Given the description of an element on the screen output the (x, y) to click on. 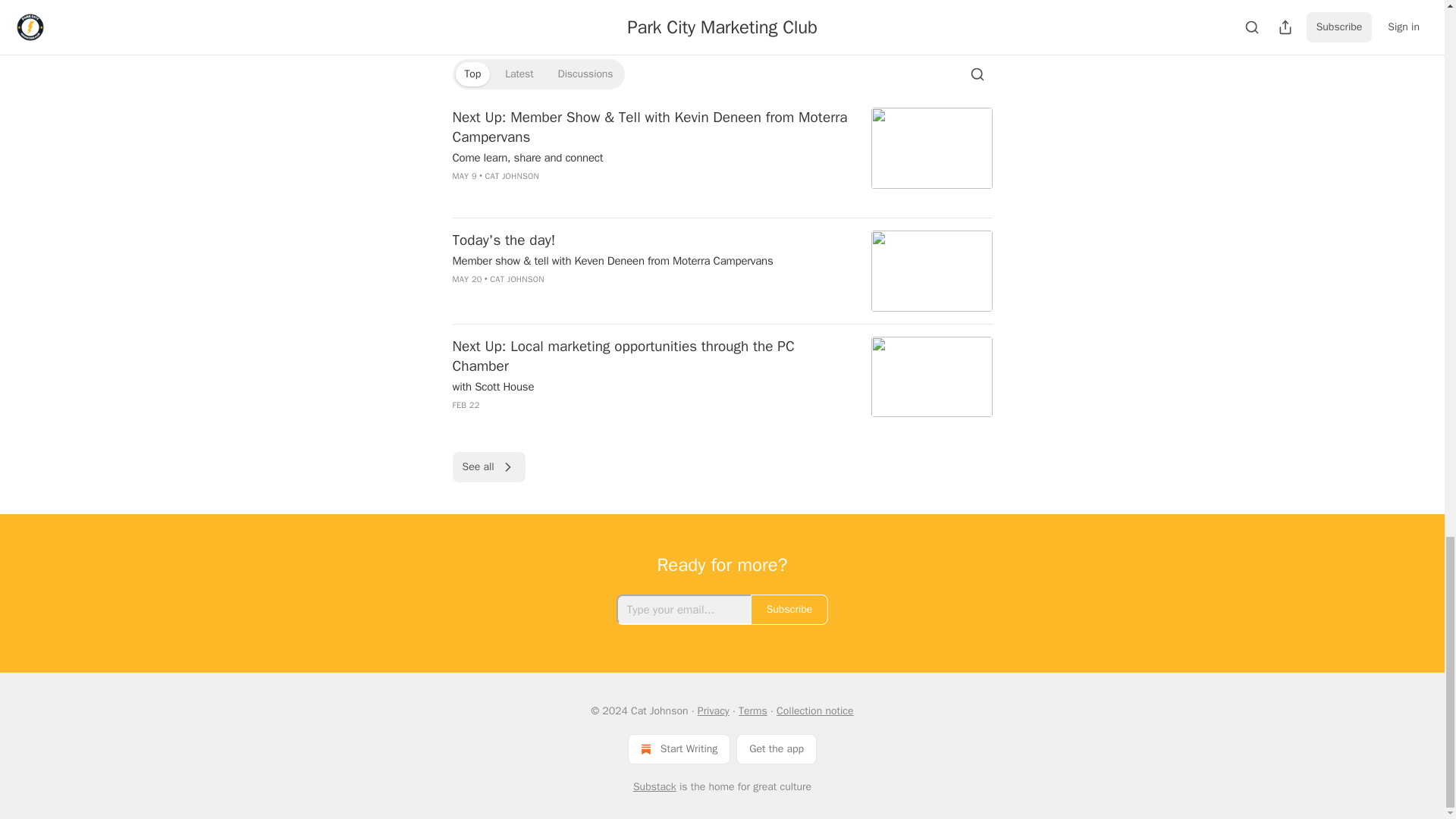
Top (471, 74)
Discussions (585, 74)
Latest (518, 74)
